Given the description of an element on the screen output the (x, y) to click on. 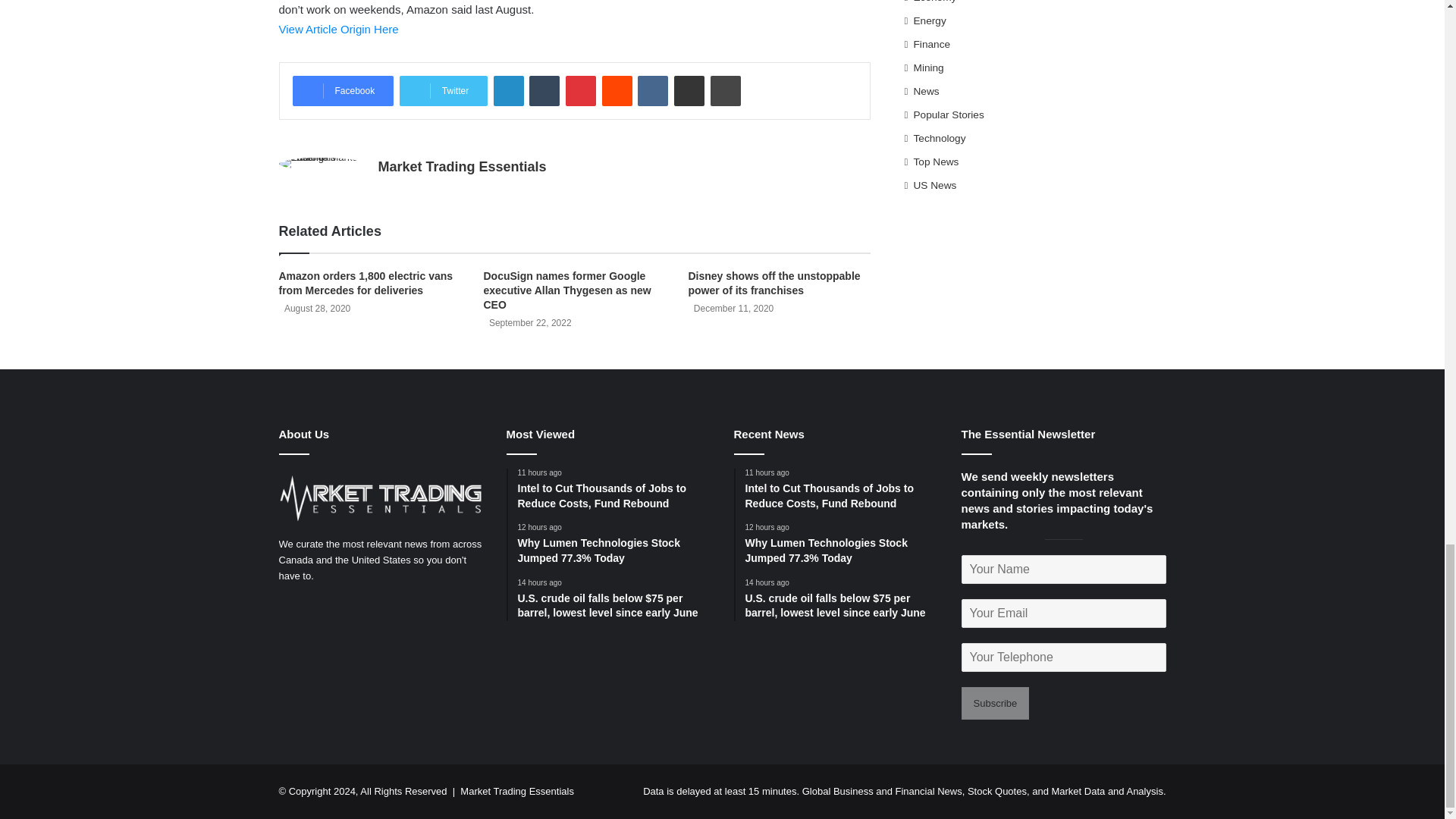
LinkedIn (508, 91)
Print (725, 91)
LinkedIn (508, 91)
Twitter (442, 91)
VKontakte (652, 91)
Share via Email (689, 91)
Twitter (442, 91)
View Article Origin Here (338, 29)
Reddit (616, 91)
Facebook (343, 91)
Facebook (343, 91)
Tumblr (544, 91)
Pinterest (580, 91)
